Given the description of an element on the screen output the (x, y) to click on. 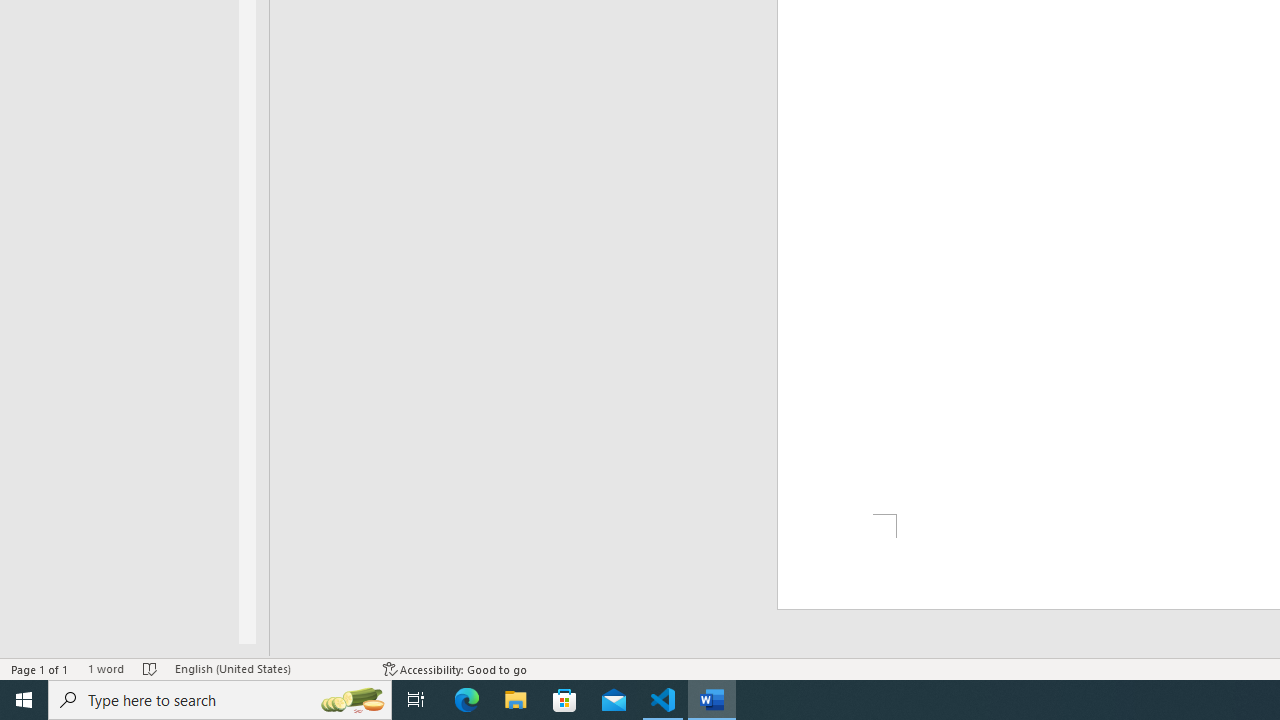
Spelling and Grammar Check No Errors (150, 668)
Page Number Page 1 of 1 (39, 668)
Accessibility Checker Accessibility: Good to go (455, 668)
Language English (United States) (269, 668)
